Given the description of an element on the screen output the (x, y) to click on. 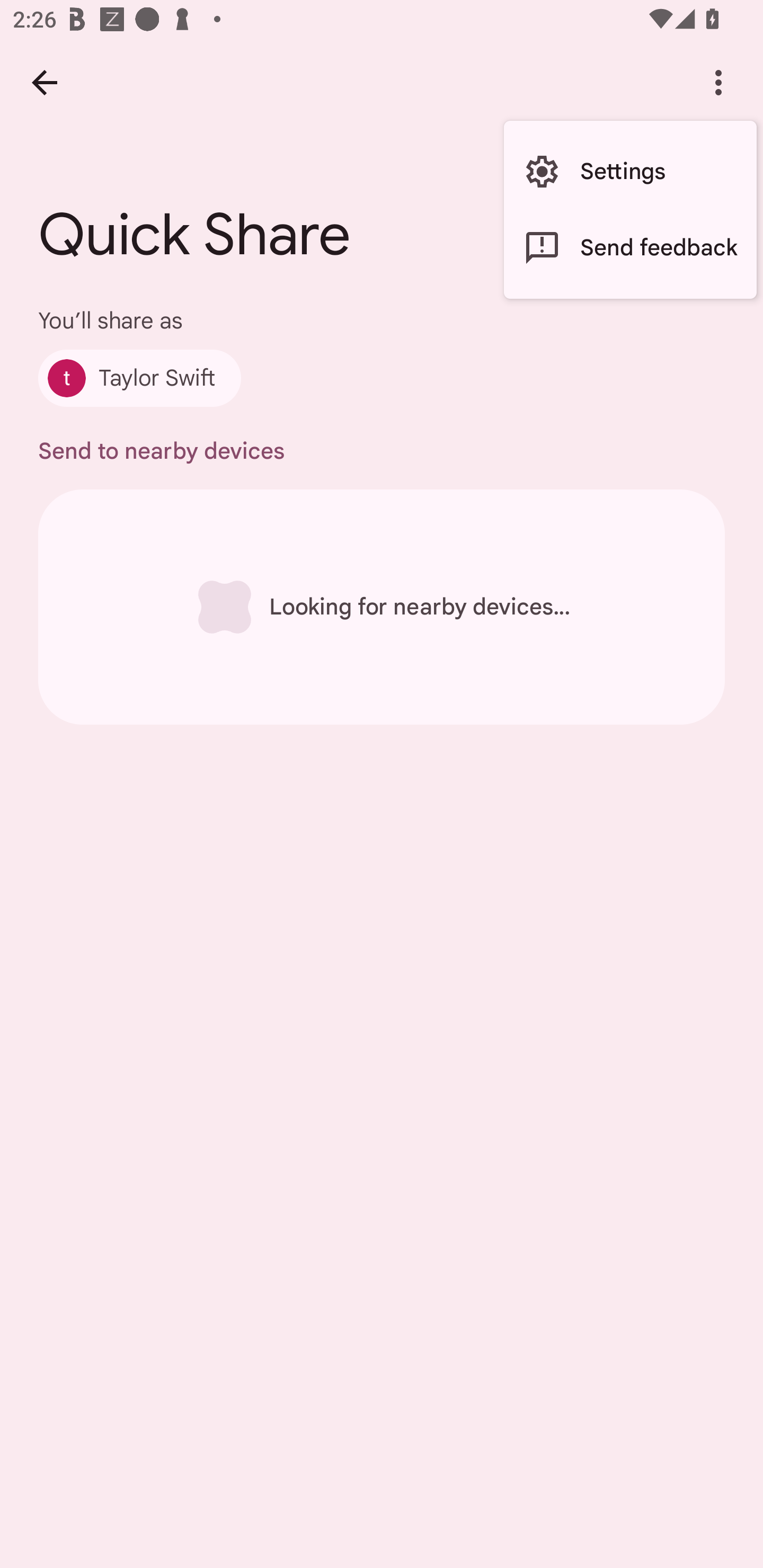
Settings (629, 171)
Send feedback (629, 247)
